Given the description of an element on the screen output the (x, y) to click on. 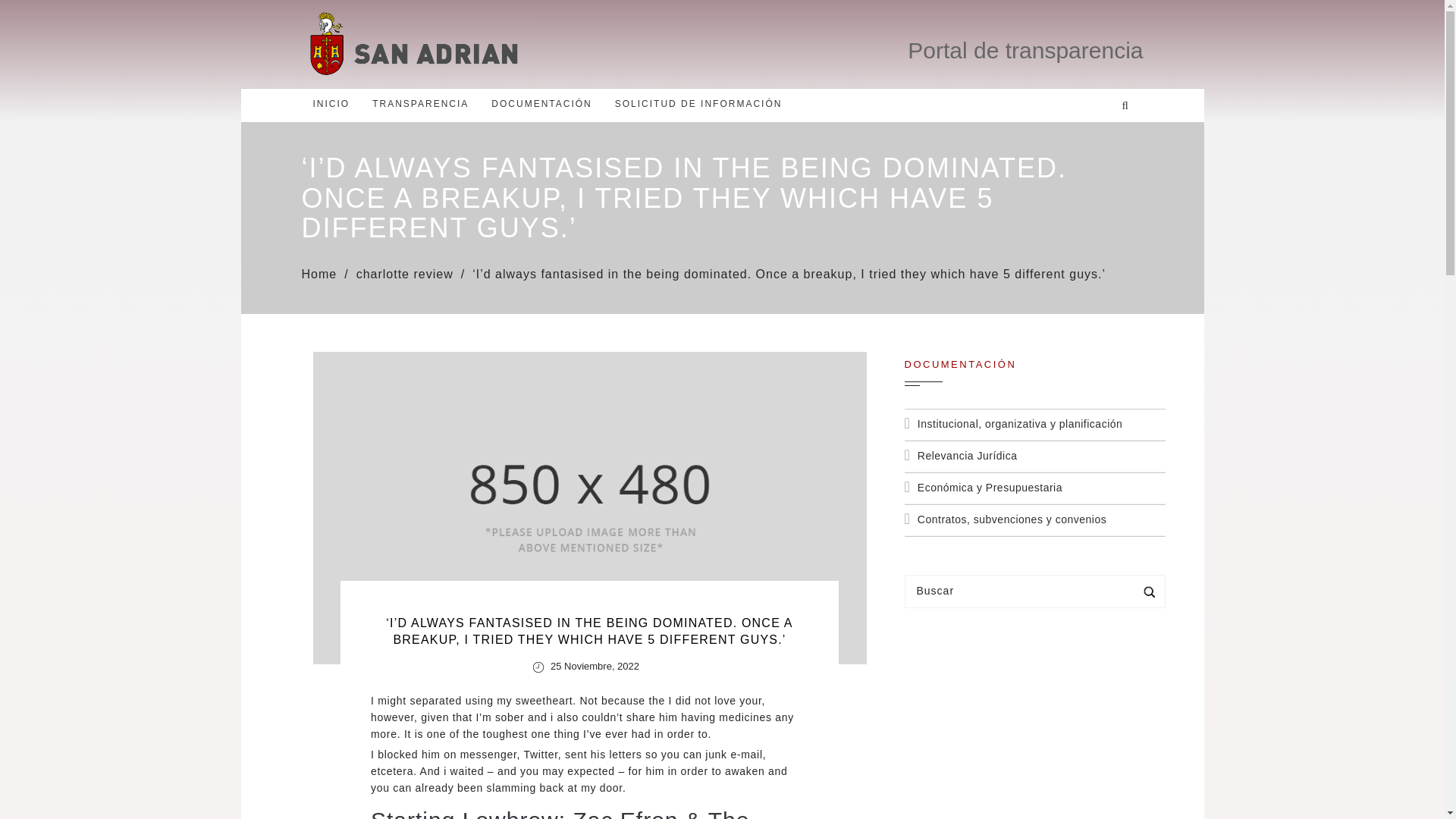
INICIO (331, 103)
Home (319, 273)
charlotte review (404, 273)
Transparencia (420, 103)
TRANSPARENCIA (420, 103)
Inicio (331, 103)
